Given the description of an element on the screen output the (x, y) to click on. 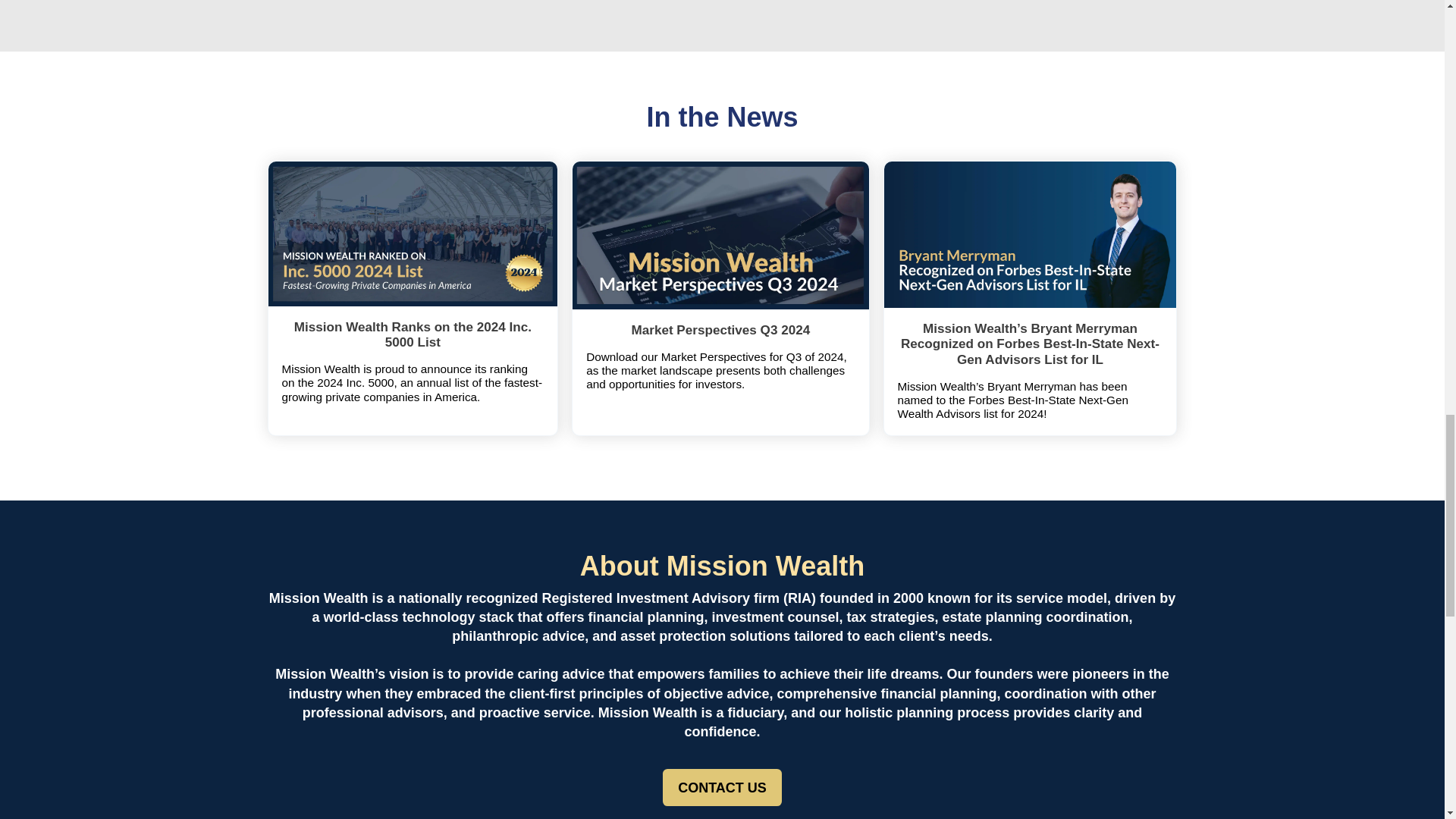
CONTACT US (721, 787)
In the News (721, 116)
